Given the description of an element on the screen output the (x, y) to click on. 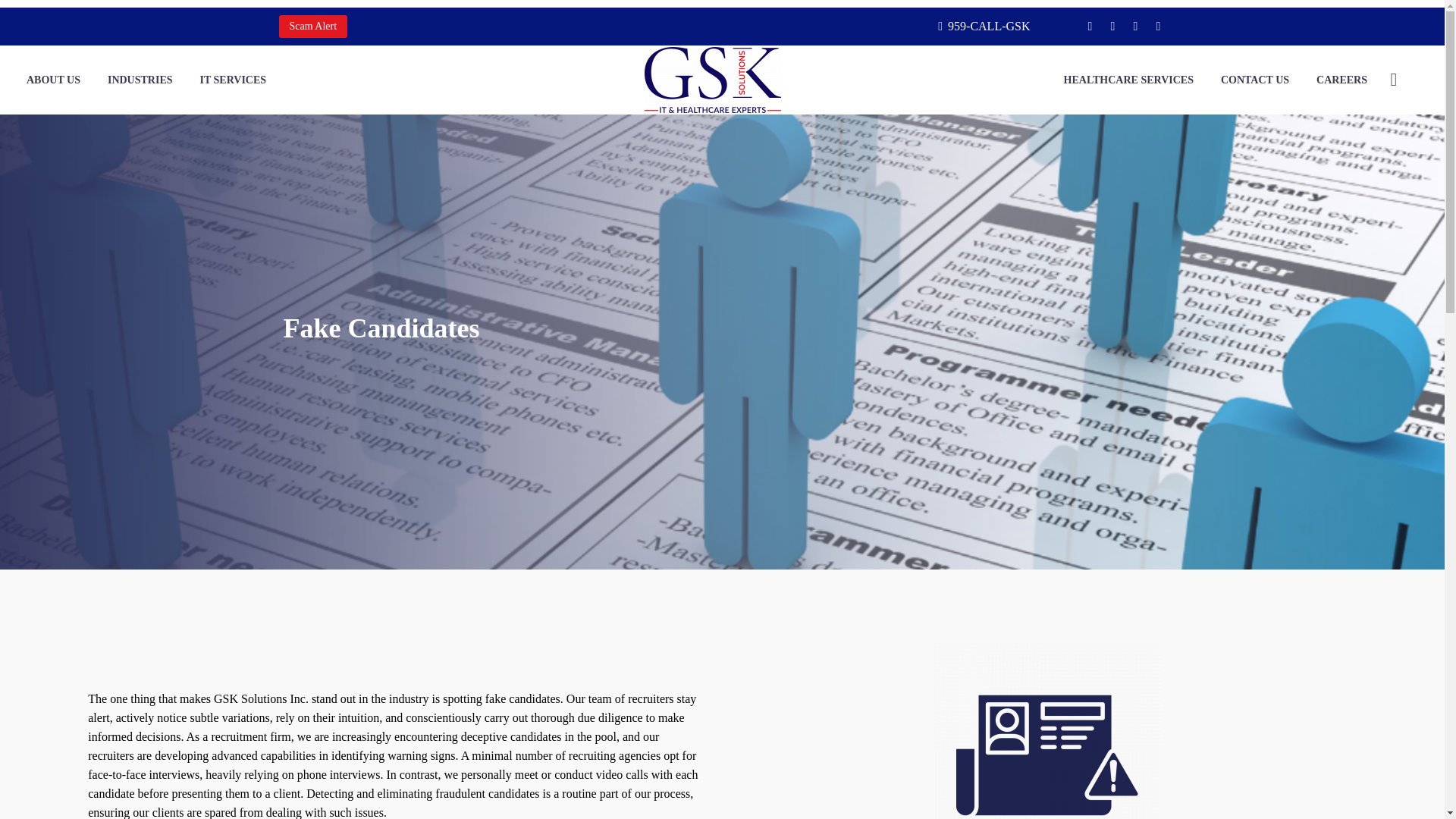
Scam Alert (313, 26)
INDUSTRIES (140, 79)
959-CALL-GSK (984, 26)
LinkedIn (1112, 26)
Untitled design (1046, 730)
ABOUT US (52, 79)
Facebook (1089, 26)
Instagram (1158, 26)
IT SERVICES (233, 79)
Twitter (1135, 26)
